Given the description of an element on the screen output the (x, y) to click on. 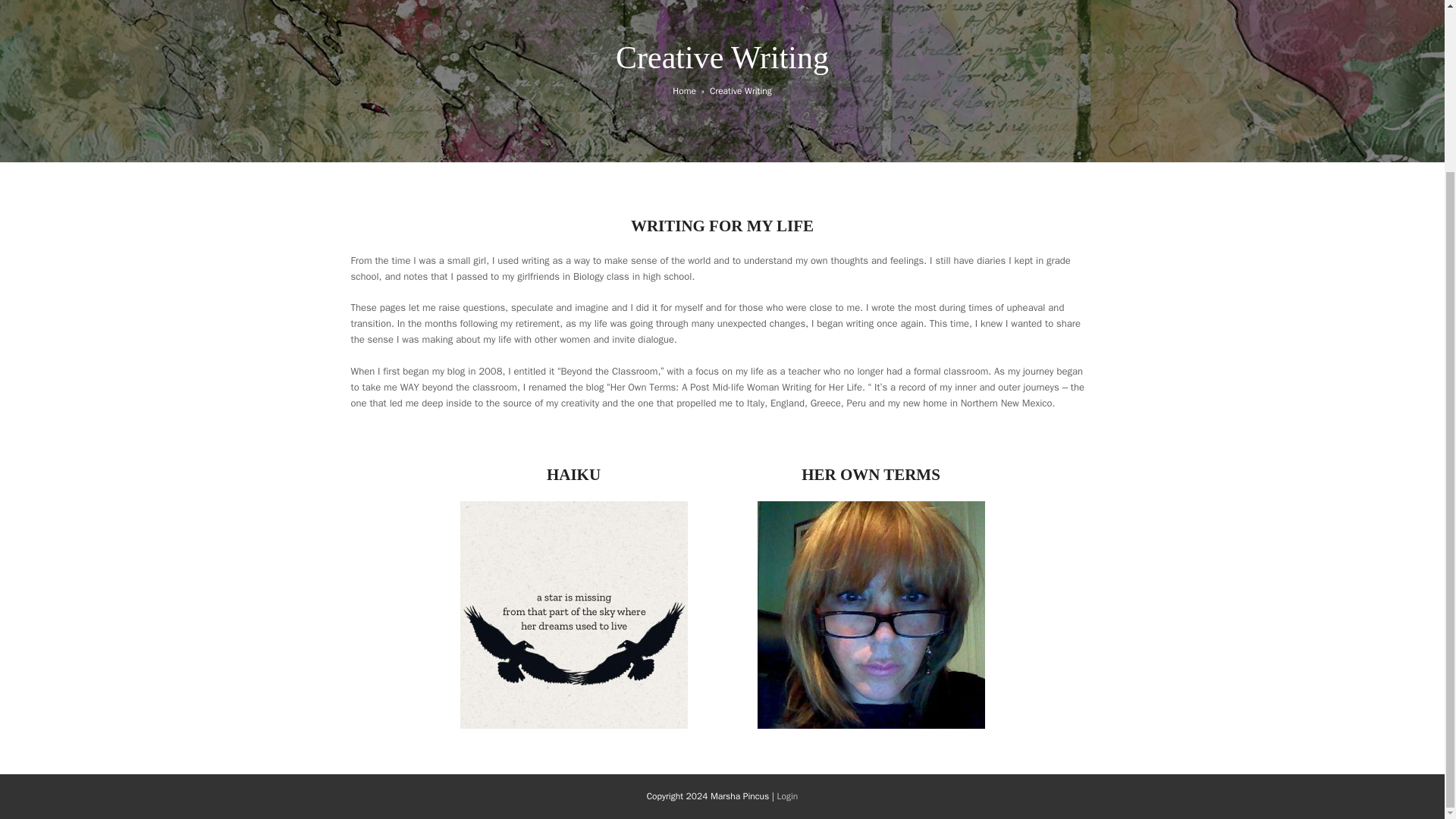
HAIKU (573, 475)
Home (683, 91)
Login (787, 796)
HER OWN TERMS (871, 475)
